Given the description of an element on the screen output the (x, y) to click on. 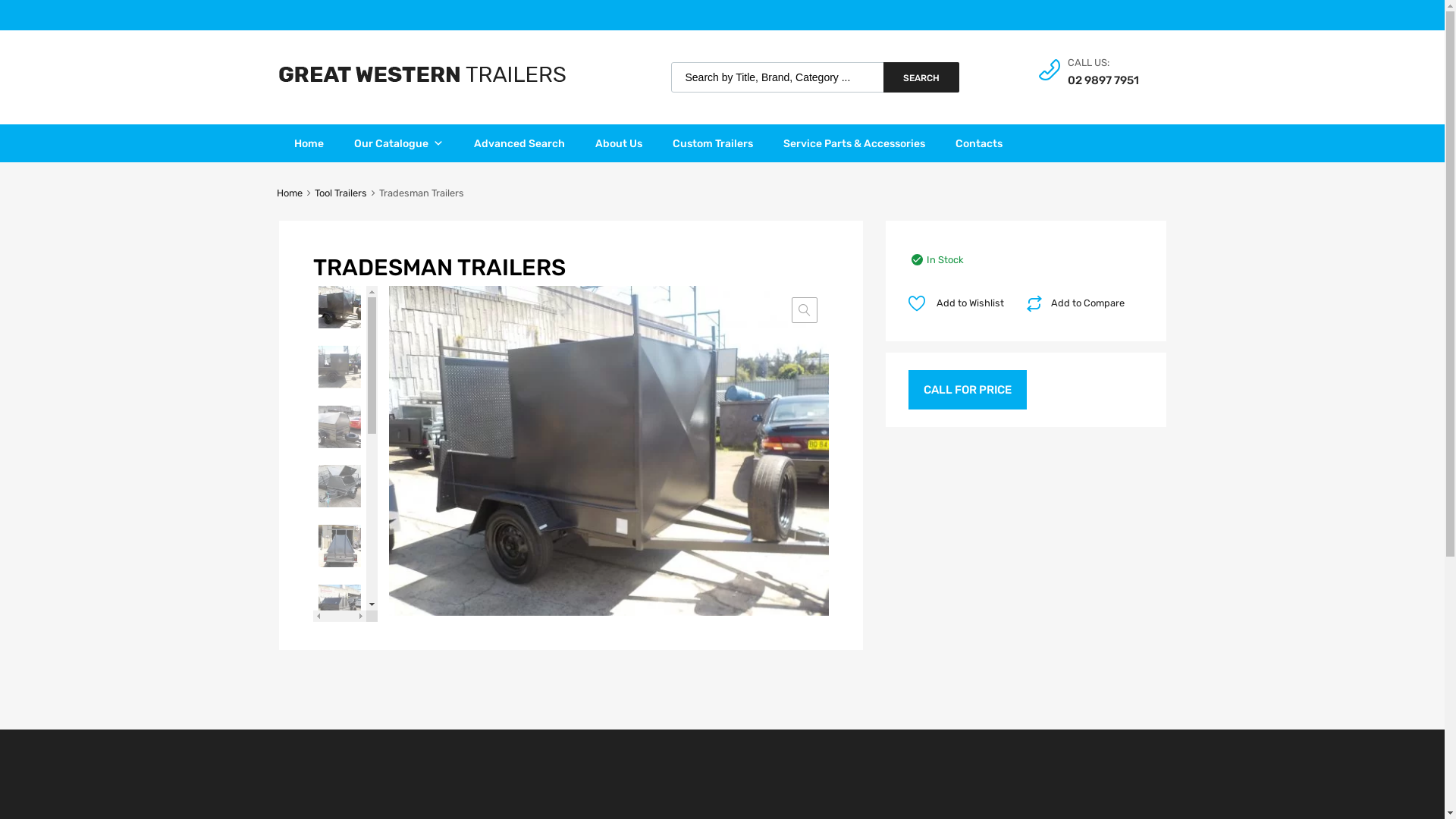
Home Element type: text (308, 143)
About Us Element type: text (617, 143)
Home Element type: text (289, 192)
CALL FOR PRICE Element type: text (967, 389)
Custom Trailers Element type: text (711, 143)
Advanced Search Element type: text (518, 143)
Tool Trailers Element type: text (340, 192)
Great Western Trailers Element type: hover (422, 77)
Service Parts & Accessories Element type: text (853, 143)
Add to Compare Element type: text (1078, 303)
Our Catalogue Element type: text (398, 143)
Contacts Element type: text (978, 143)
Add to Wishlist Element type: text (961, 303)
001 Element type: hover (608, 450)
02 9897 7951 Element type: text (1104, 80)
